Given the description of an element on the screen output the (x, y) to click on. 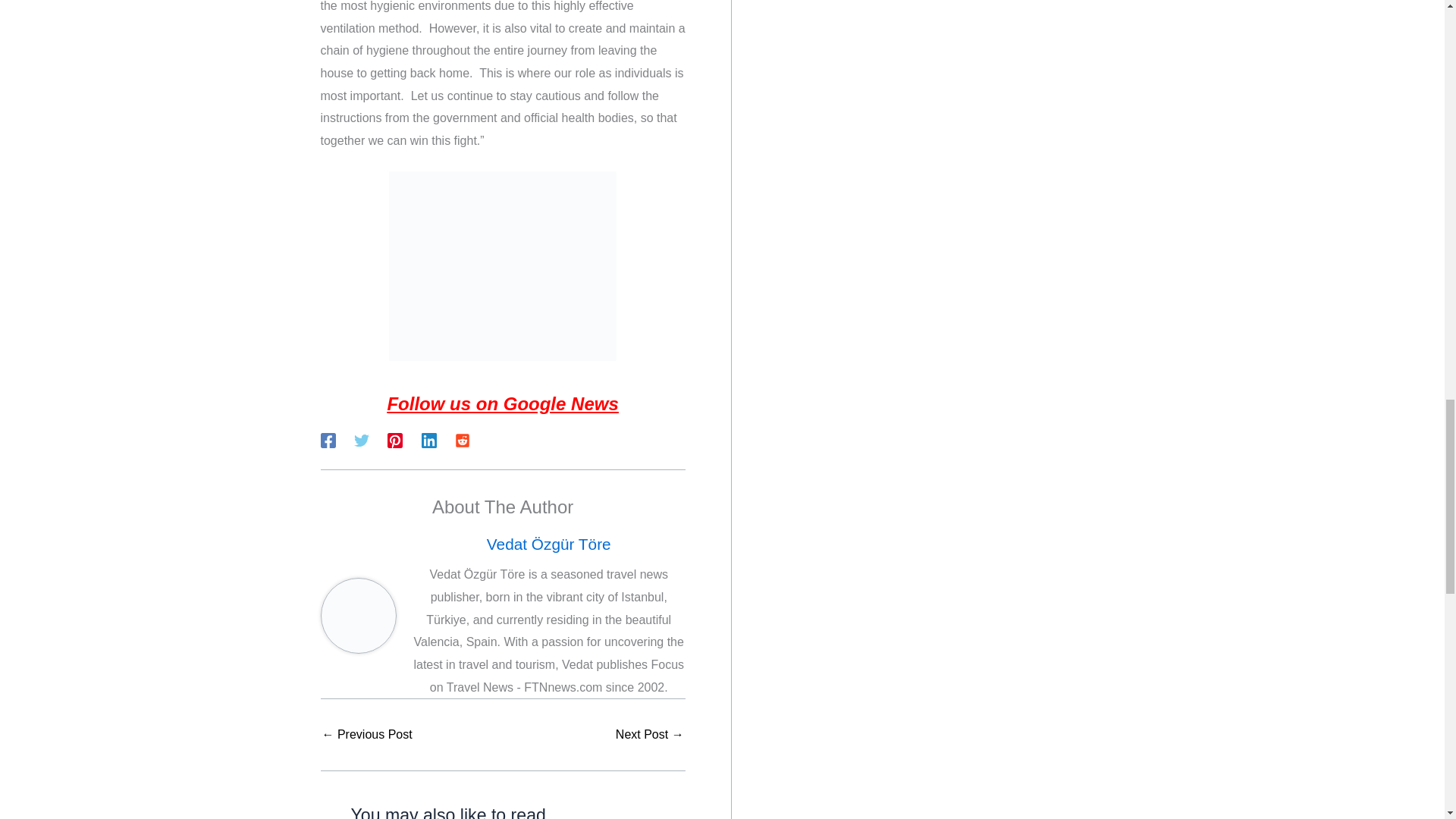
AIDA Cruises to Restart Sailing Vacations in August (649, 734)
